Given the description of an element on the screen output the (x, y) to click on. 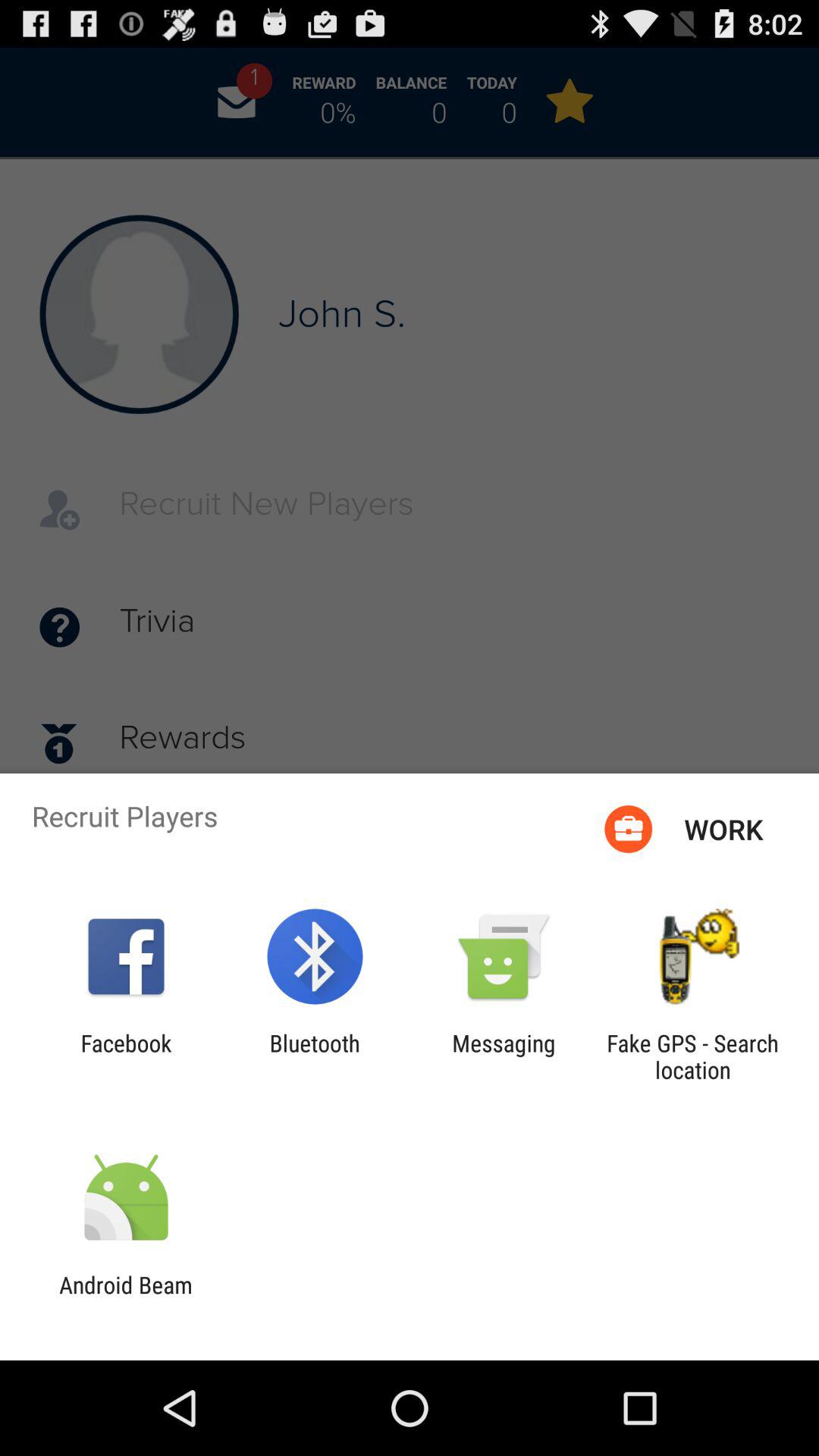
turn on item to the left of bluetooth icon (125, 1056)
